Given the description of an element on the screen output the (x, y) to click on. 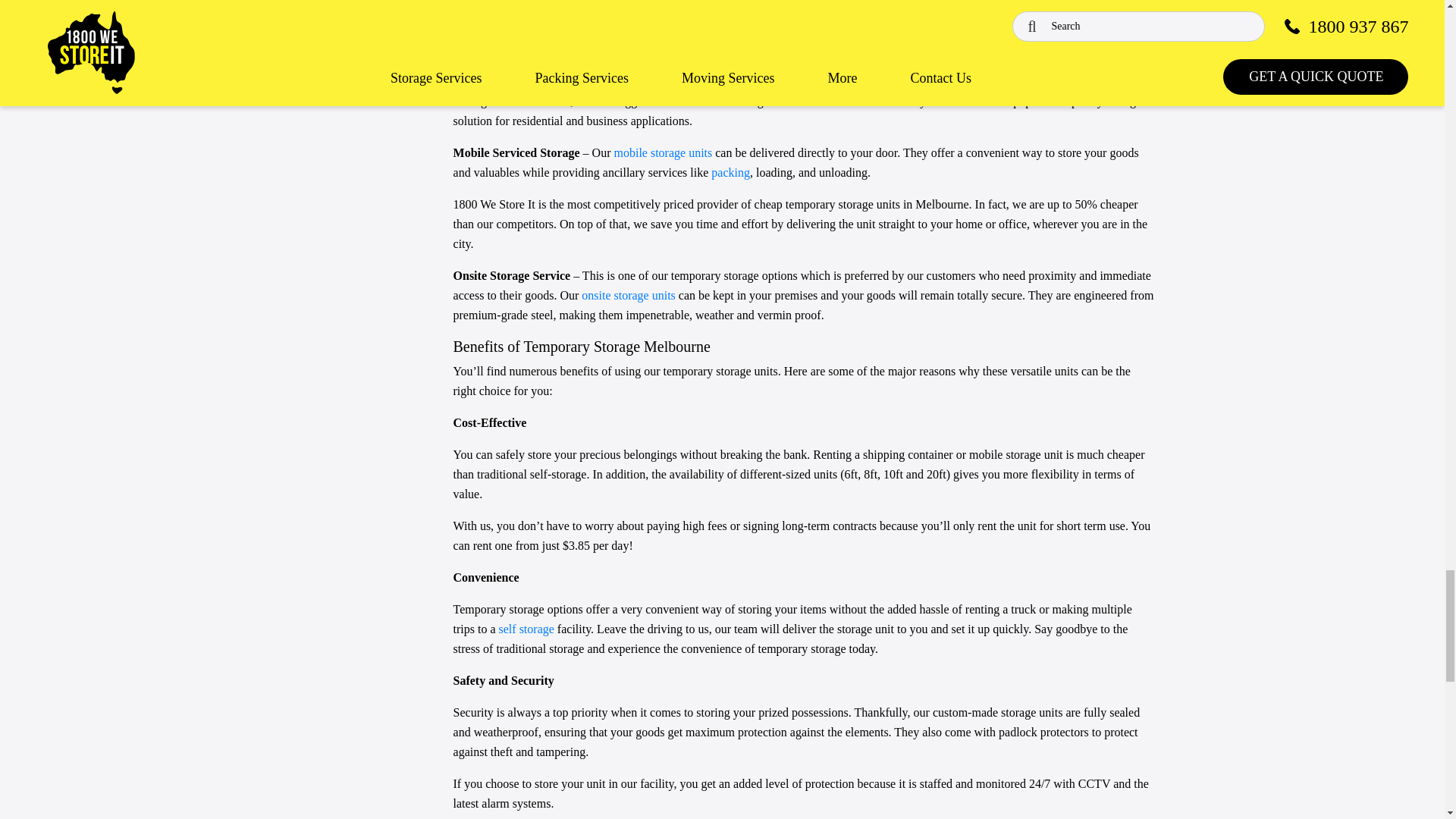
Self Storage Melbourne (526, 628)
